Given the description of an element on the screen output the (x, y) to click on. 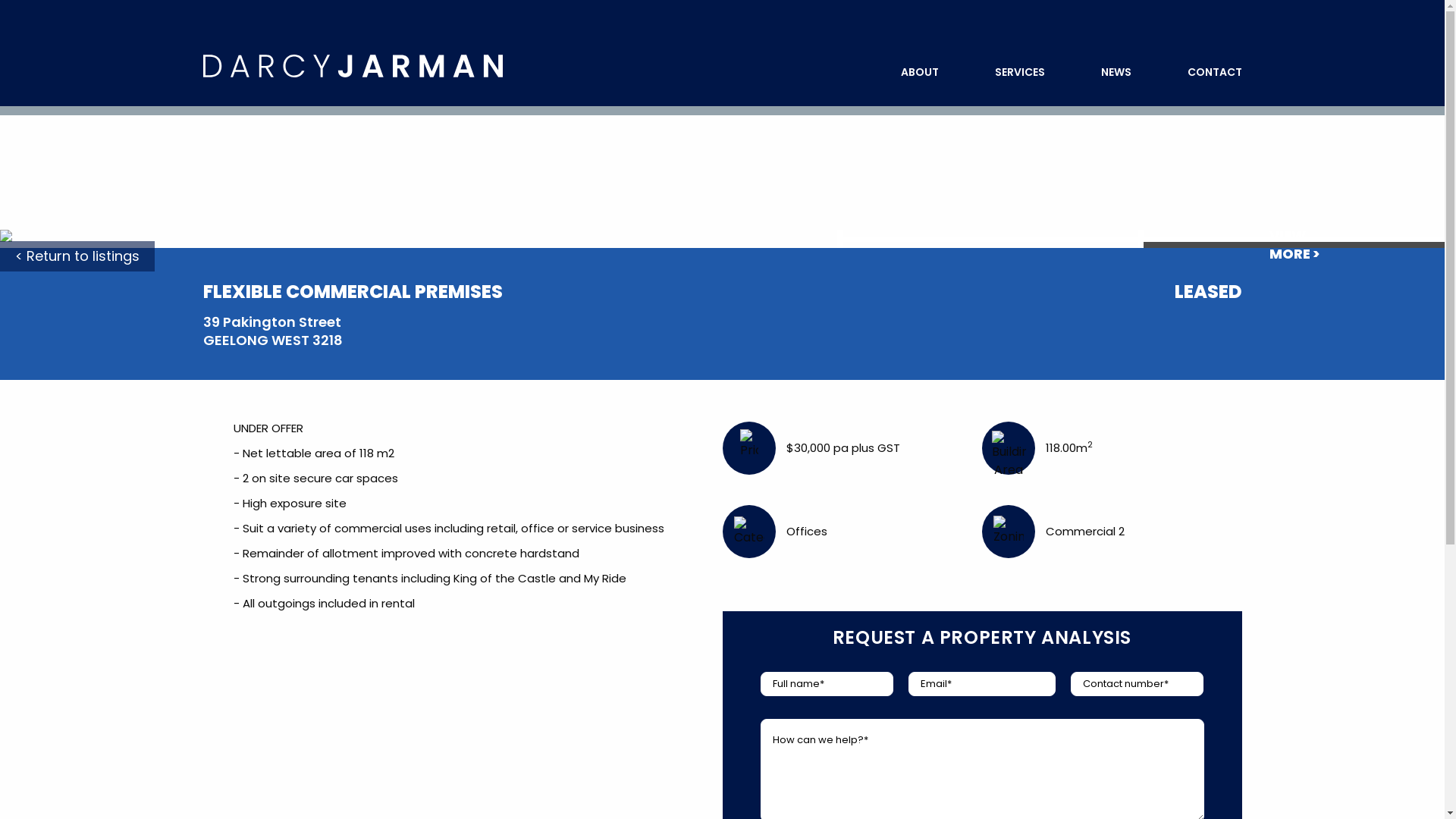
NEWS Element type: text (1116, 71)
VIEW
MORE > Element type: text (1293, 244)
CONTACT Element type: text (1214, 71)
SERVICES Element type: text (1019, 71)
< Return to listings Element type: text (77, 256)
ABOUT Element type: text (919, 71)
